Given the description of an element on the screen output the (x, y) to click on. 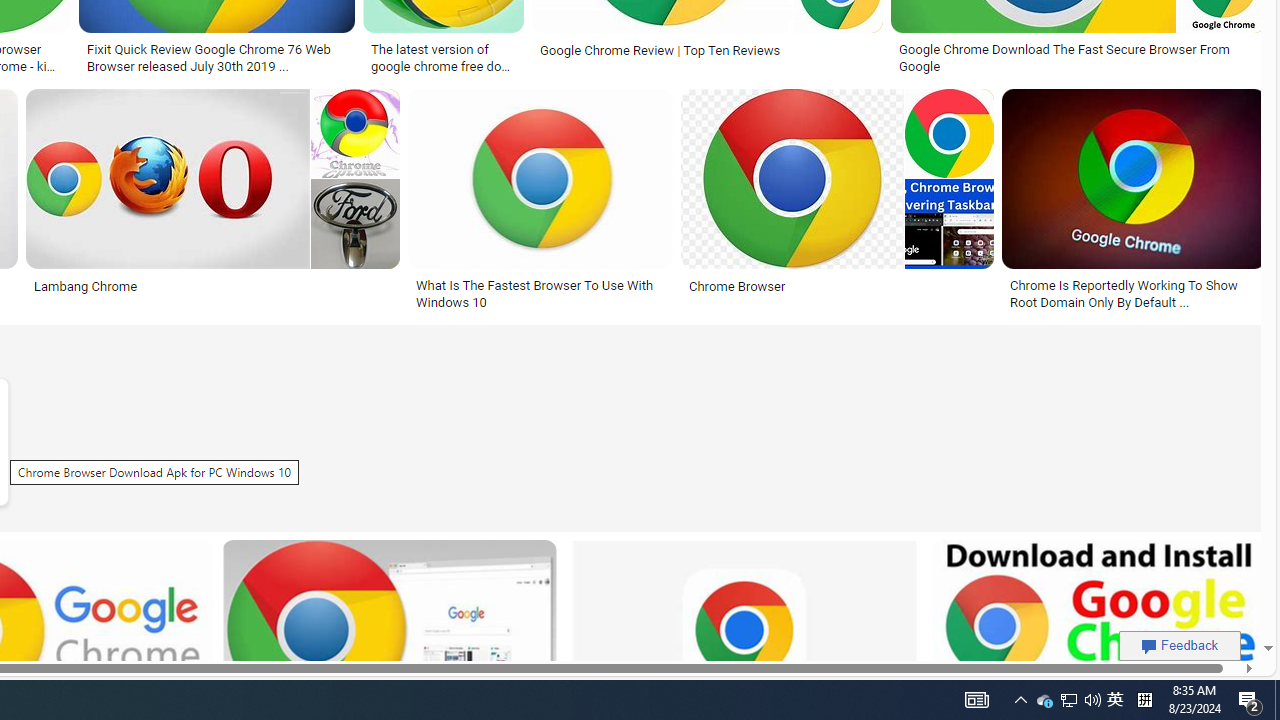
Google Chrome Review | Top Ten Reviews (660, 50)
Lambang Chrome (86, 286)
Google Chrome Download The Fast Secure Browser From Google (1078, 57)
Image result for Google Chrome Internet Browser Download (1133, 179)
Chrome Browser (736, 286)
Feedback (1179, 645)
Image result for Google Chrome Internet Browser Download (1133, 179)
